Given the description of an element on the screen output the (x, y) to click on. 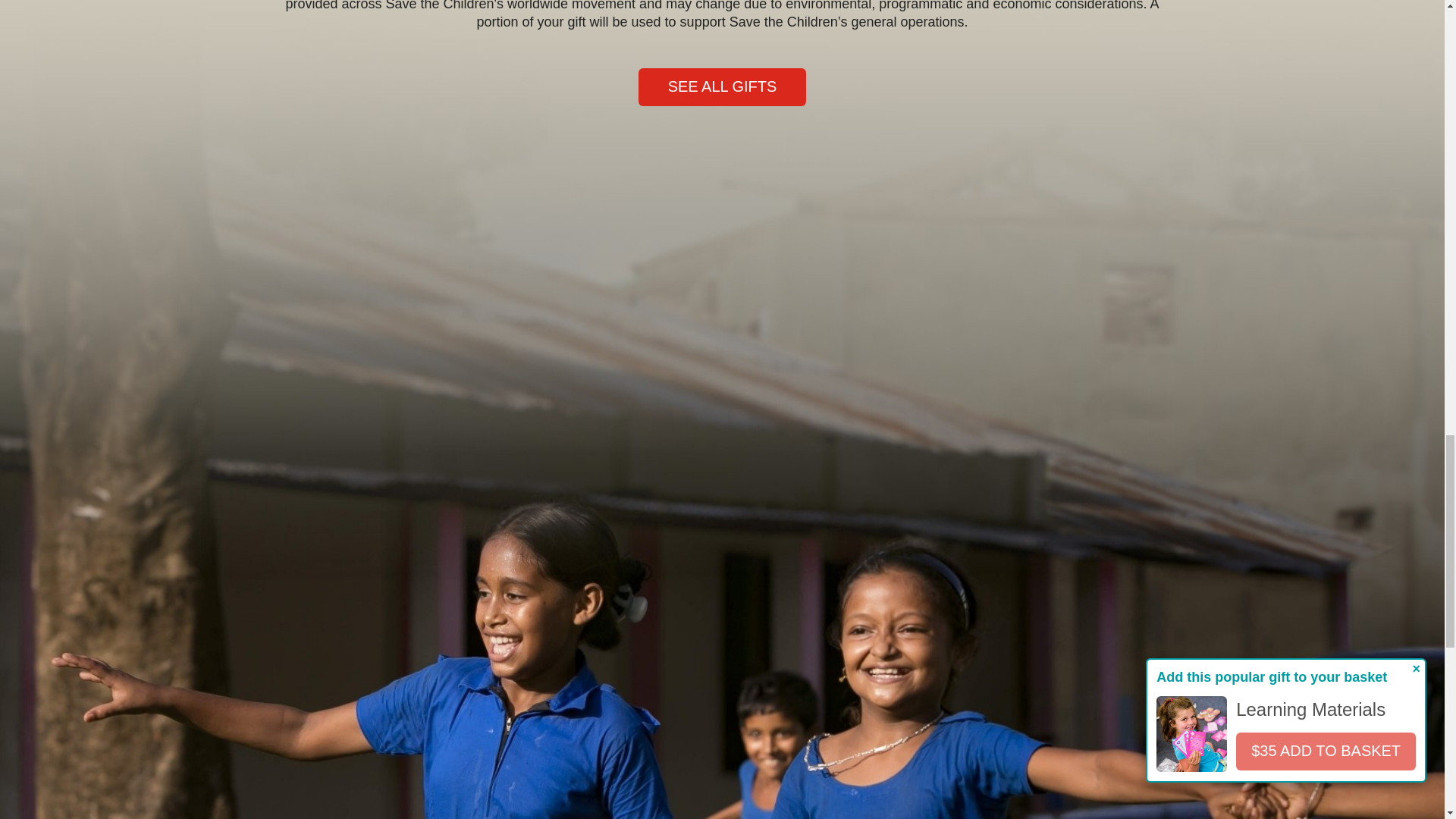
SEE ALL GIFTS (722, 86)
